Given the description of an element on the screen output the (x, y) to click on. 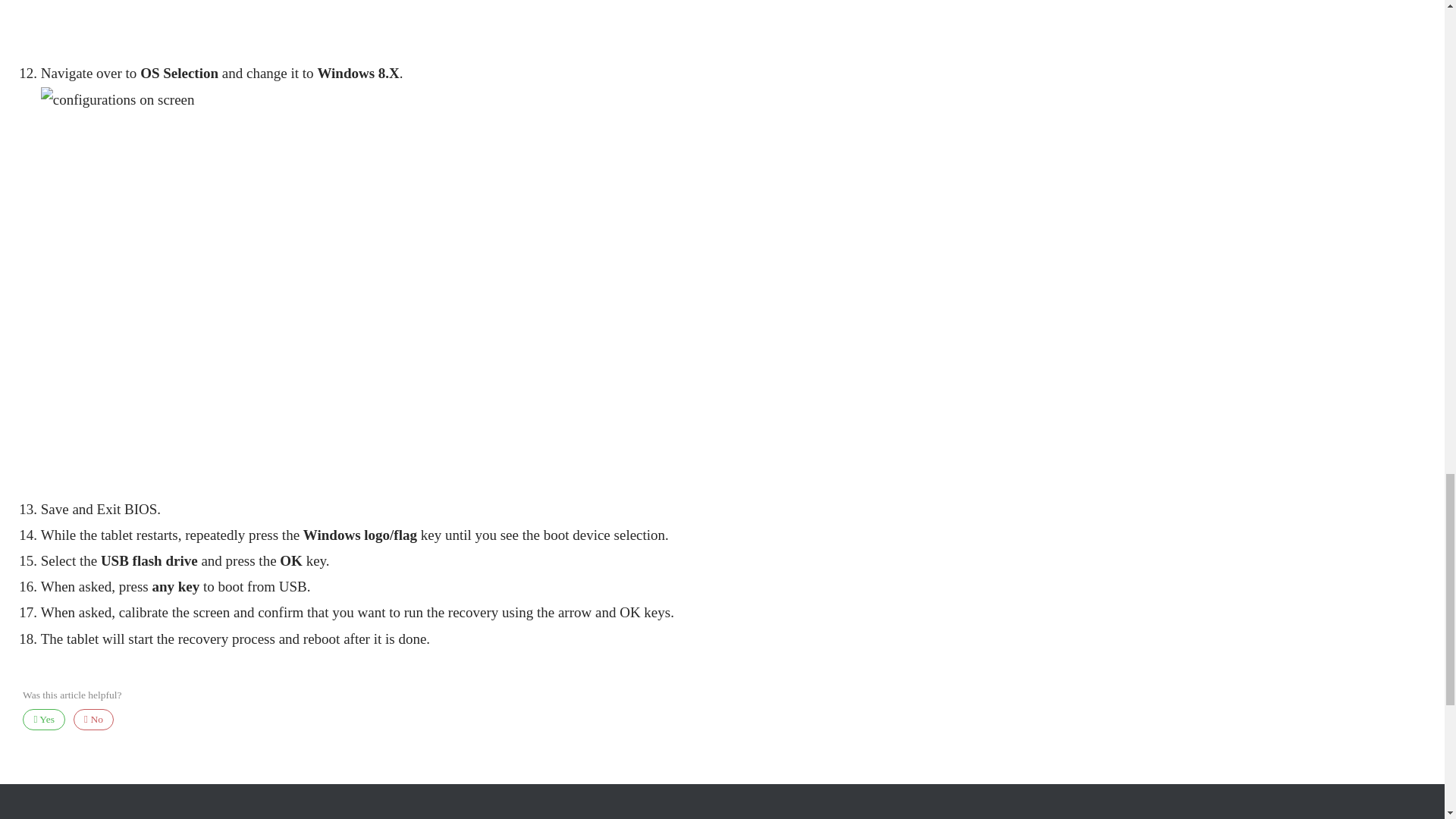
No (94, 720)
Yes (44, 720)
Yes (44, 720)
No (94, 720)
